Given the description of an element on the screen output the (x, y) to click on. 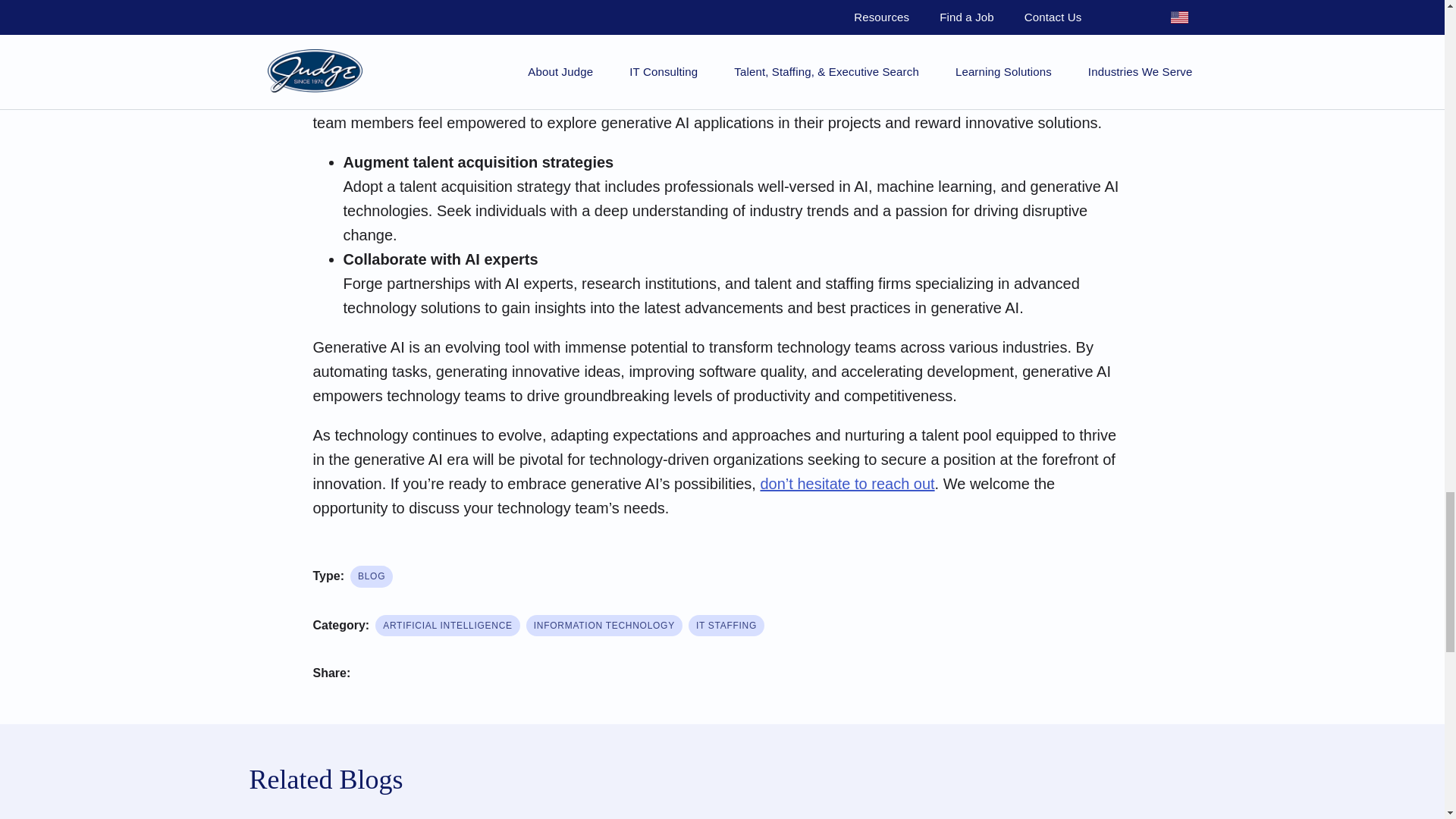
Email (510, 674)
LinkedIn (465, 674)
Twitter (419, 674)
Facebook (374, 674)
